Given the description of an element on the screen output the (x, y) to click on. 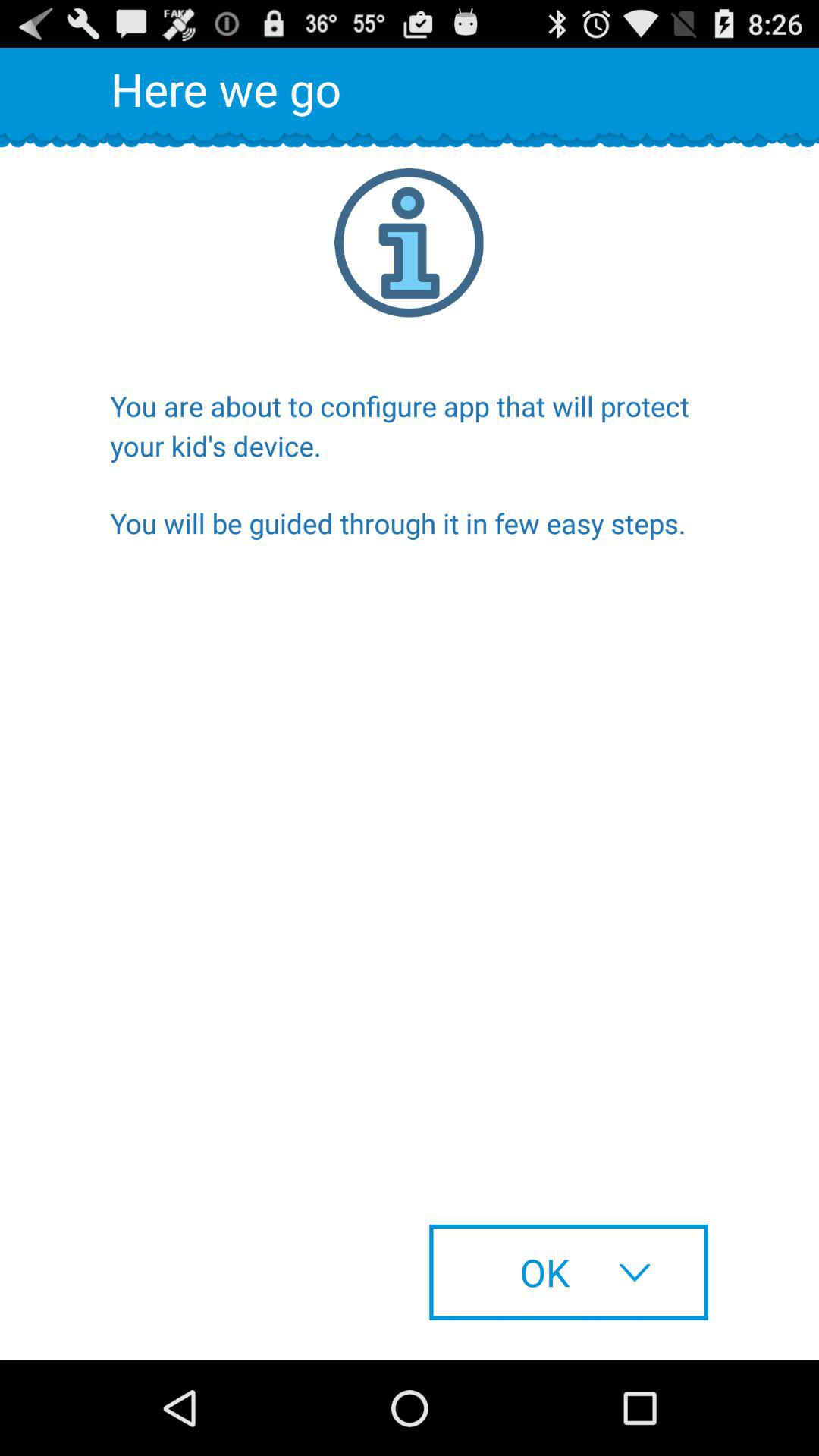
open ok item (568, 1272)
